Given the description of an element on the screen output the (x, y) to click on. 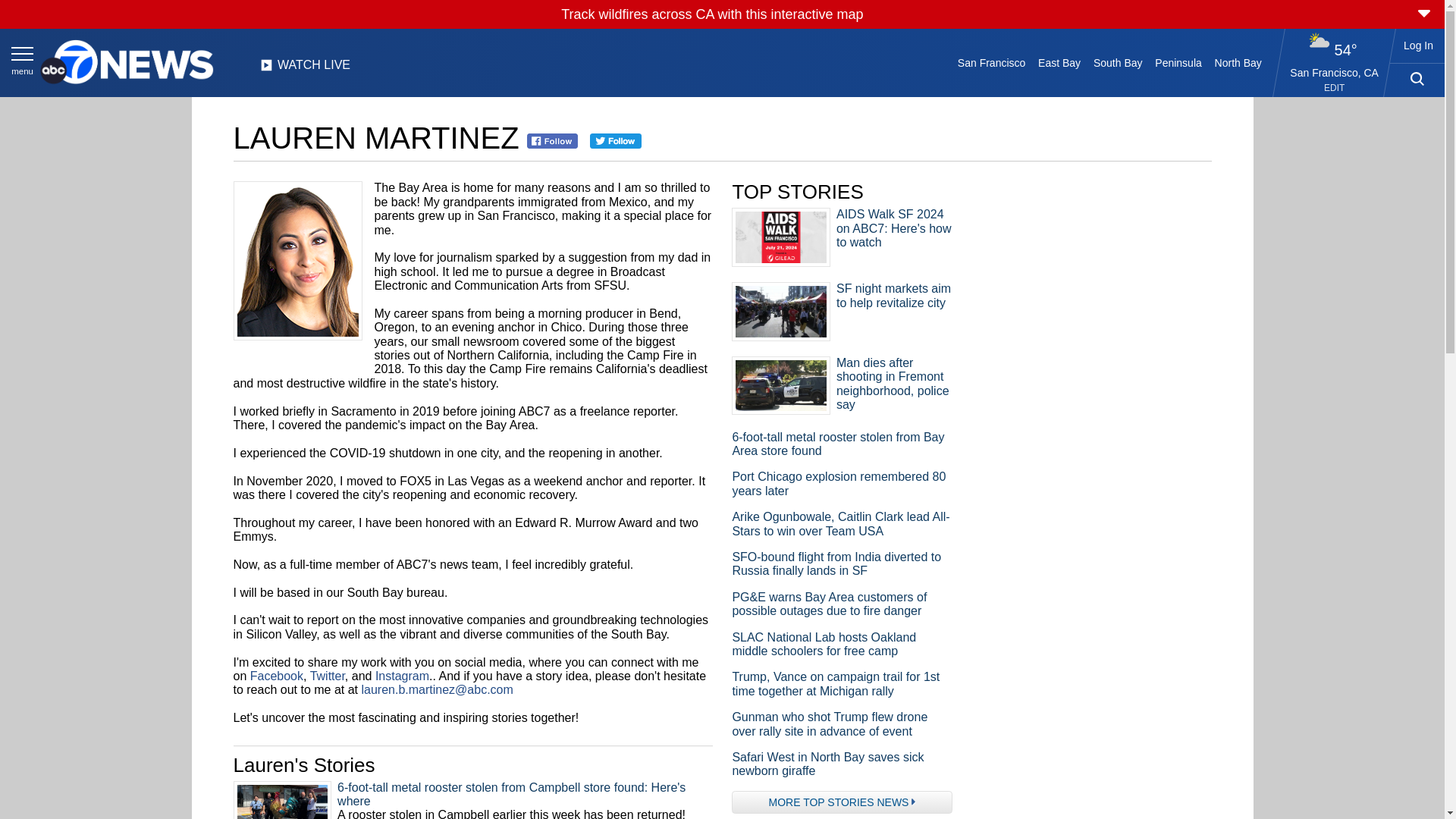
San Francisco, CA (1334, 72)
South Bay (1117, 62)
EDIT (1333, 87)
WATCH LIVE (305, 69)
Peninsula (1178, 62)
North Bay (1238, 62)
San Francisco (990, 62)
East Bay (1059, 62)
